Given the description of an element on the screen output the (x, y) to click on. 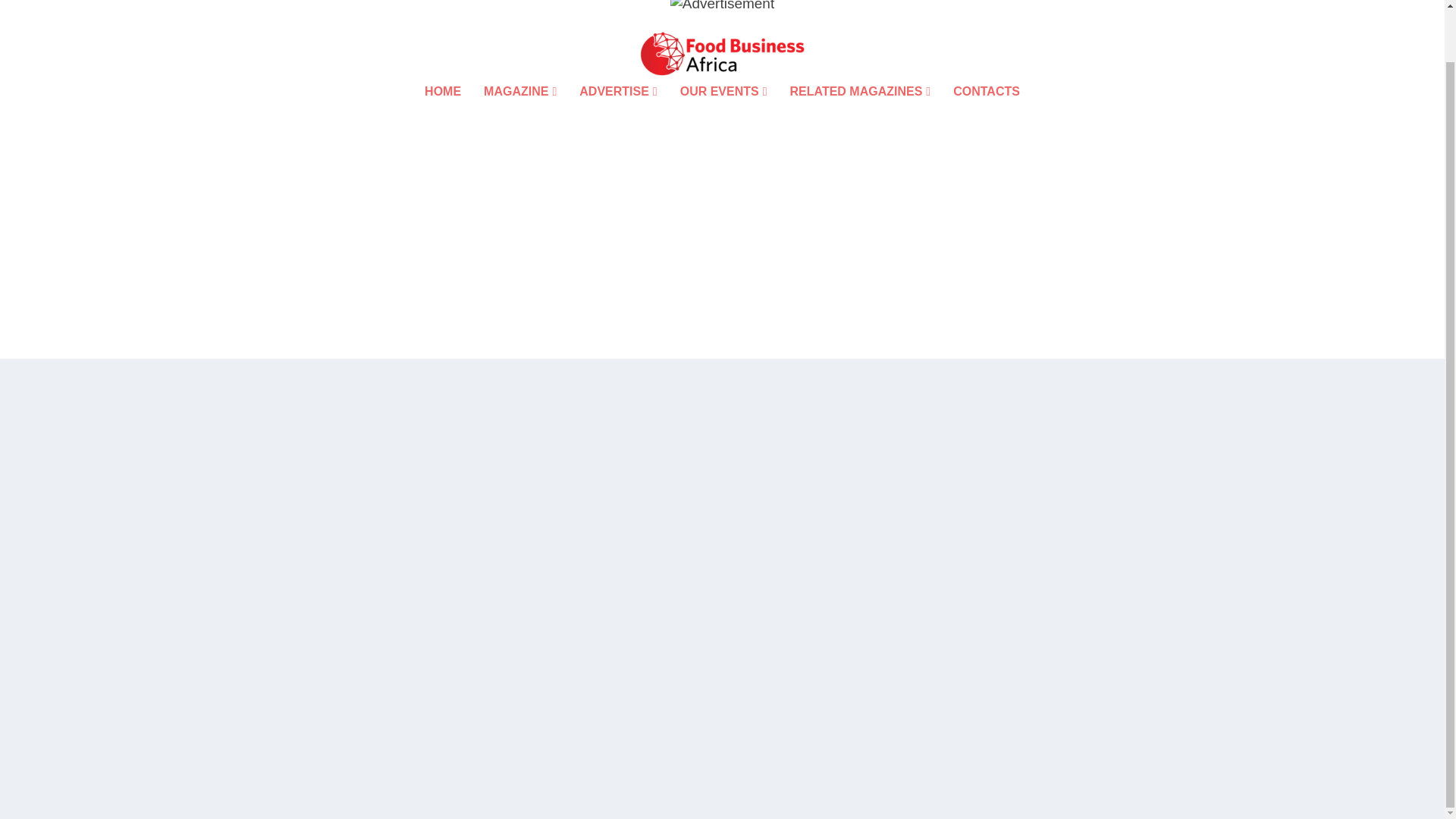
MAGAZINE (519, 111)
RELATED MAGAZINES (860, 111)
ADVERTISE (617, 111)
CONTACTS (986, 111)
OUR EVENTS (723, 111)
